Given the description of an element on the screen output the (x, y) to click on. 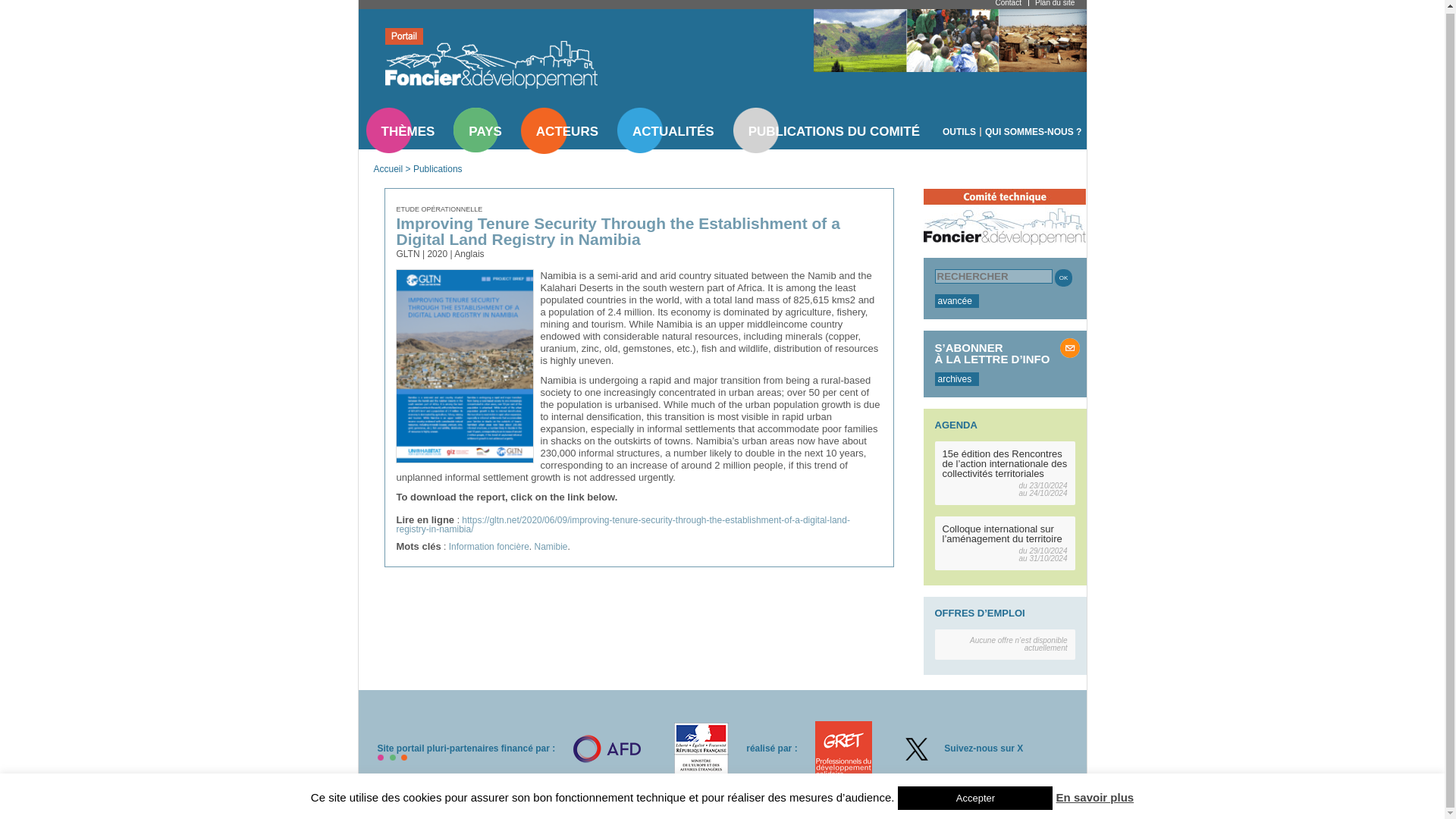
archives (956, 378)
PAYS (484, 131)
Connexion (816, 797)
ACTEURS (566, 131)
Namibie (550, 546)
Publications (438, 168)
Contact (1007, 3)
Skip to content (372, 19)
Voir toutes les offres (979, 613)
Ok (1062, 277)
En savoir plus (1095, 794)
Suivez-nous sur X (983, 747)
AGENDA (955, 424)
Anglais (468, 253)
Accueil (387, 168)
